Given the description of an element on the screen output the (x, y) to click on. 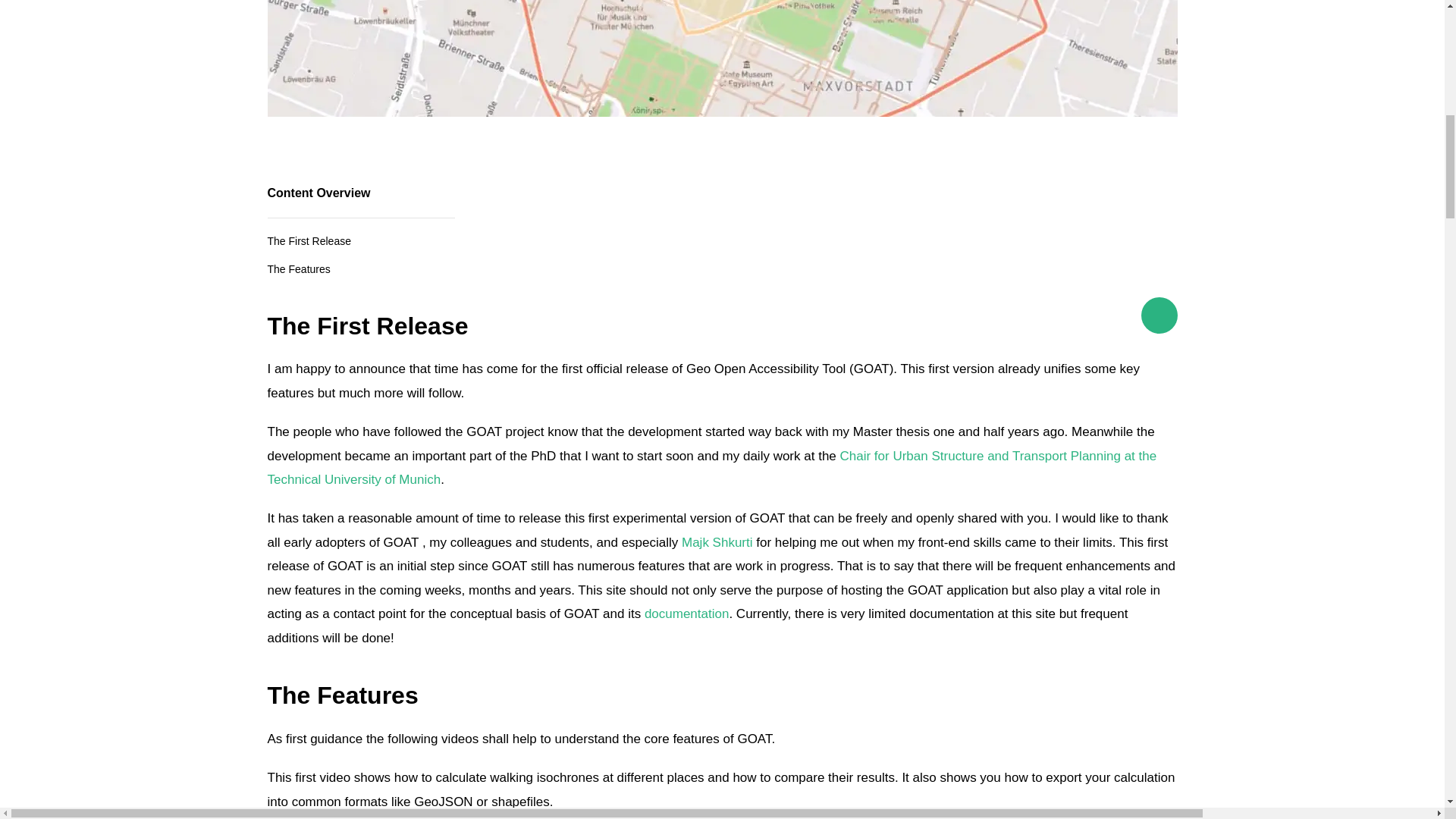
The First Release (308, 241)
Majk Shkurti (716, 542)
documentation (687, 613)
The Features (298, 268)
